Given the description of an element on the screen output the (x, y) to click on. 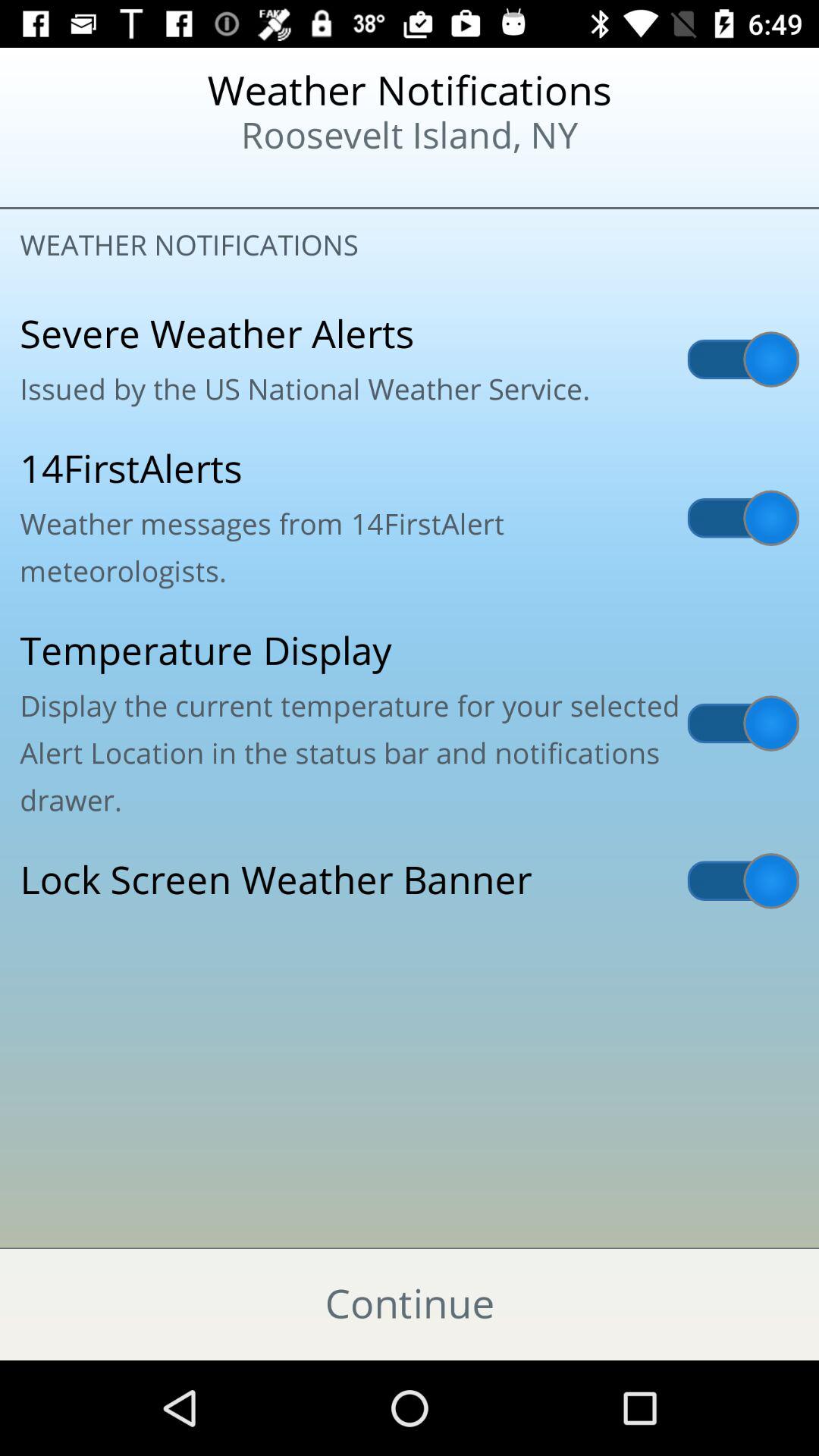
click on the text which is above weather notifications (409, 114)
